Given the description of an element on the screen output the (x, y) to click on. 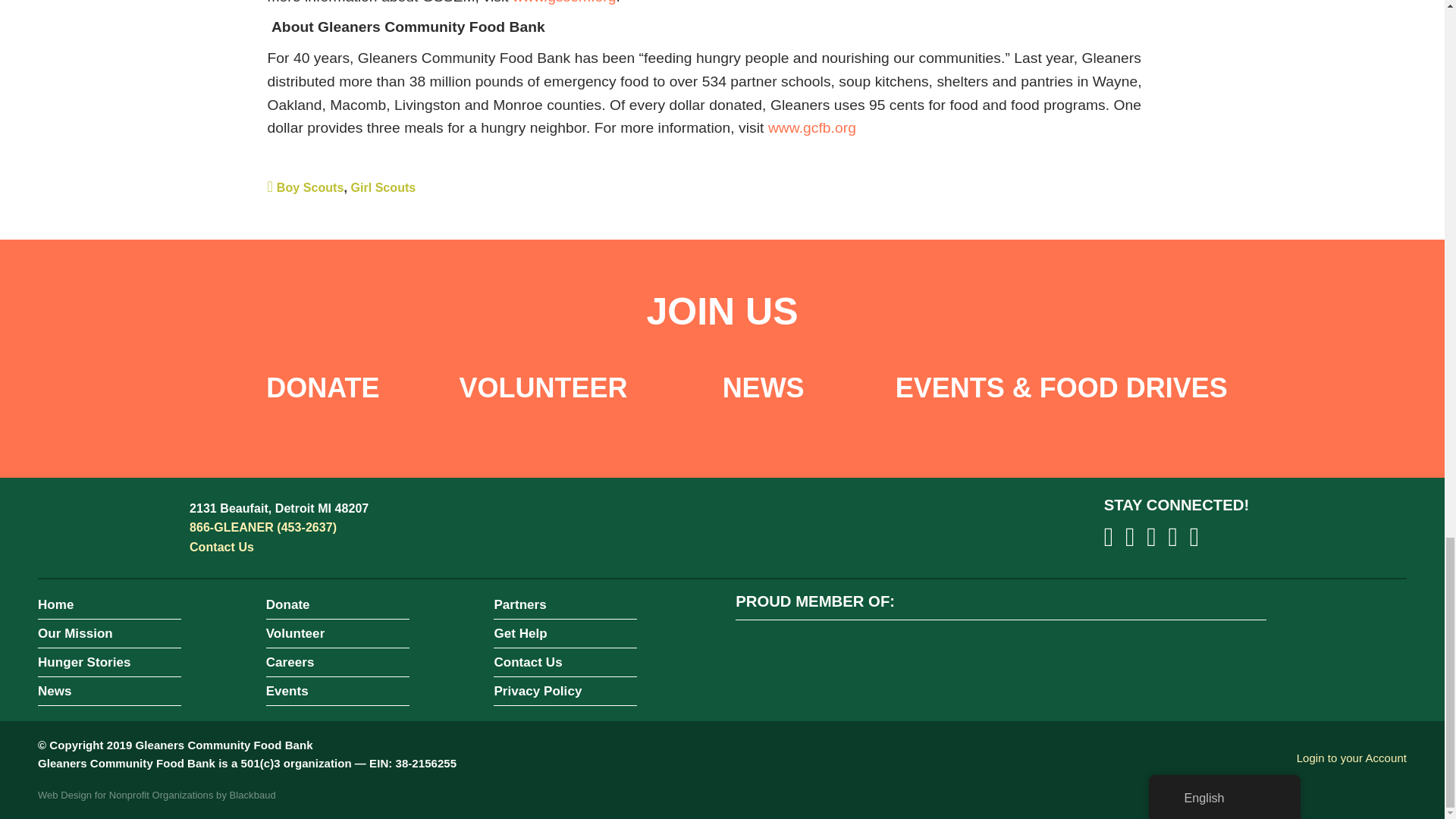
Feeding America Logo White (772, 657)
Call to Donate! (262, 526)
GCFB Logo White (105, 528)
